Given the description of an element on the screen output the (x, y) to click on. 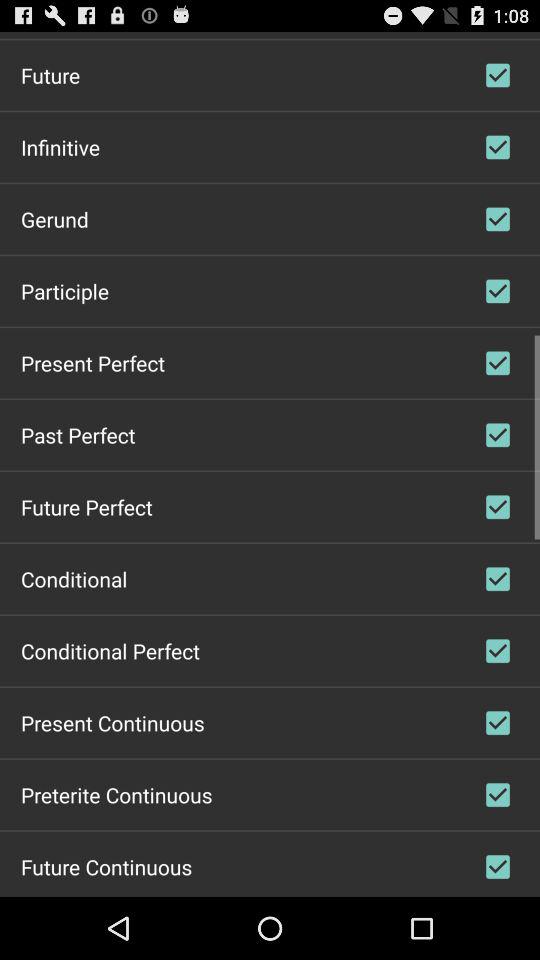
scroll until the gerund (54, 218)
